Given the description of an element on the screen output the (x, y) to click on. 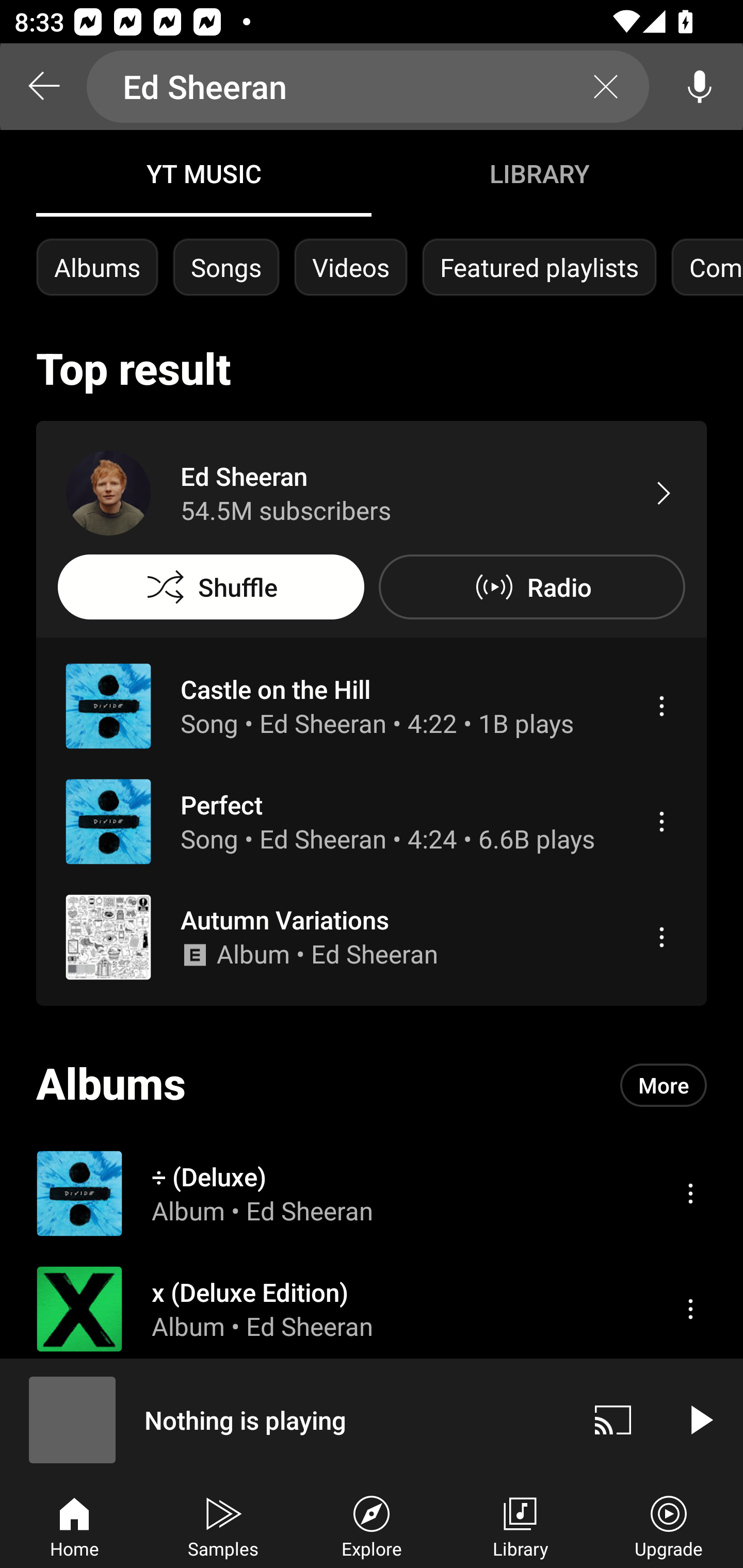
Search back (43, 86)
Ed Sheeran (367, 86)
Clear search (605, 86)
Voice search (699, 86)
Library LIBRARY (538, 173)
Shuffle (210, 587)
Radio (531, 587)
Menu (661, 705)
Menu (661, 821)
Menu (661, 937)
Albums More More (371, 1084)
More (663, 1085)
Menu (690, 1193)
Menu (690, 1309)
Nothing is playing (284, 1419)
Cast. Disconnected (612, 1419)
Play video (699, 1419)
Home (74, 1524)
Samples (222, 1524)
Explore (371, 1524)
Library (519, 1524)
Upgrade (668, 1524)
